Given the description of an element on the screen output the (x, y) to click on. 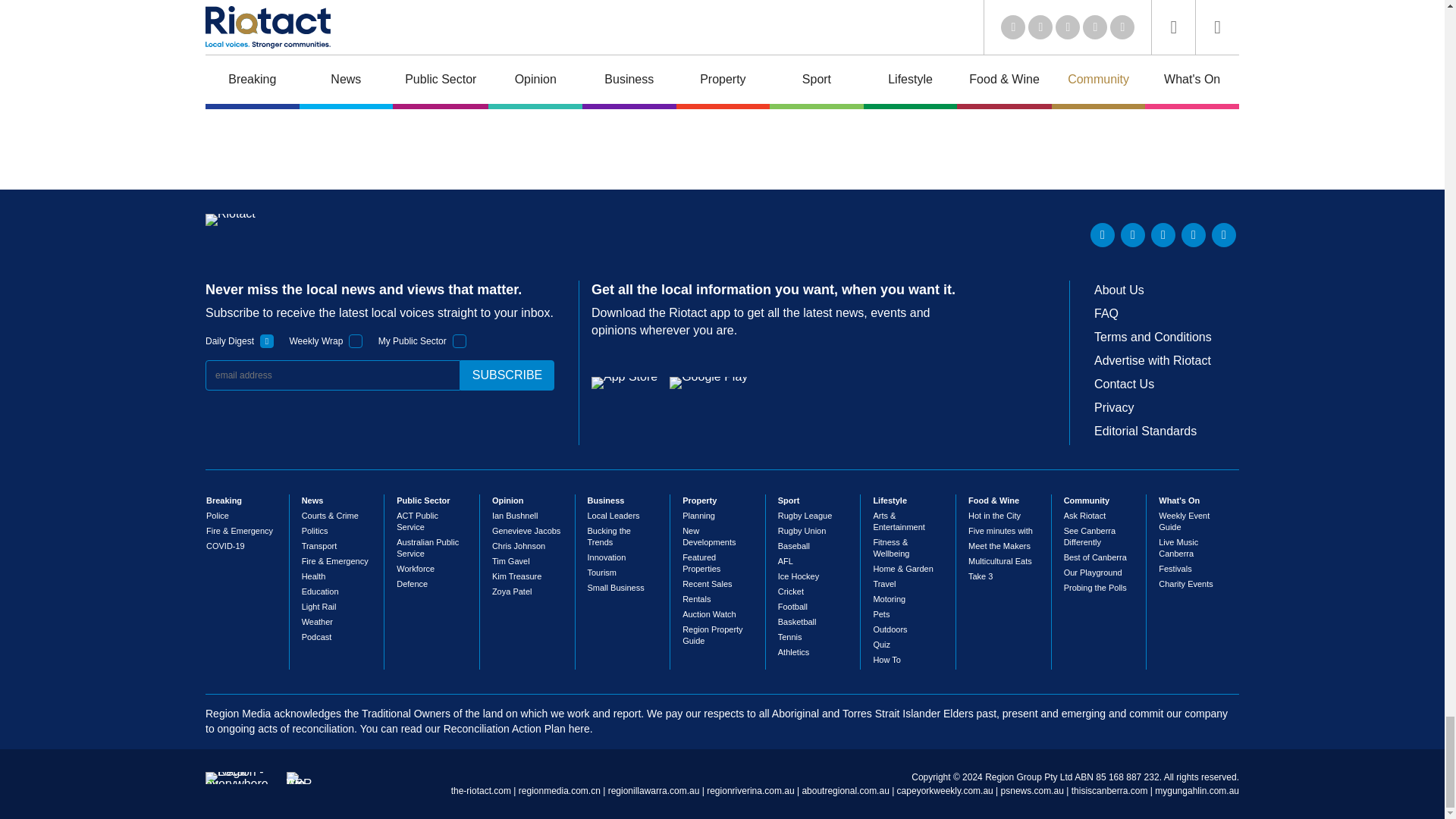
1 (266, 341)
Facebook (1192, 234)
LinkedIn (1102, 234)
Youtube (1162, 234)
1 (458, 341)
1 (355, 341)
Twitter (1132, 234)
subscribe (507, 375)
